Given the description of an element on the screen output the (x, y) to click on. 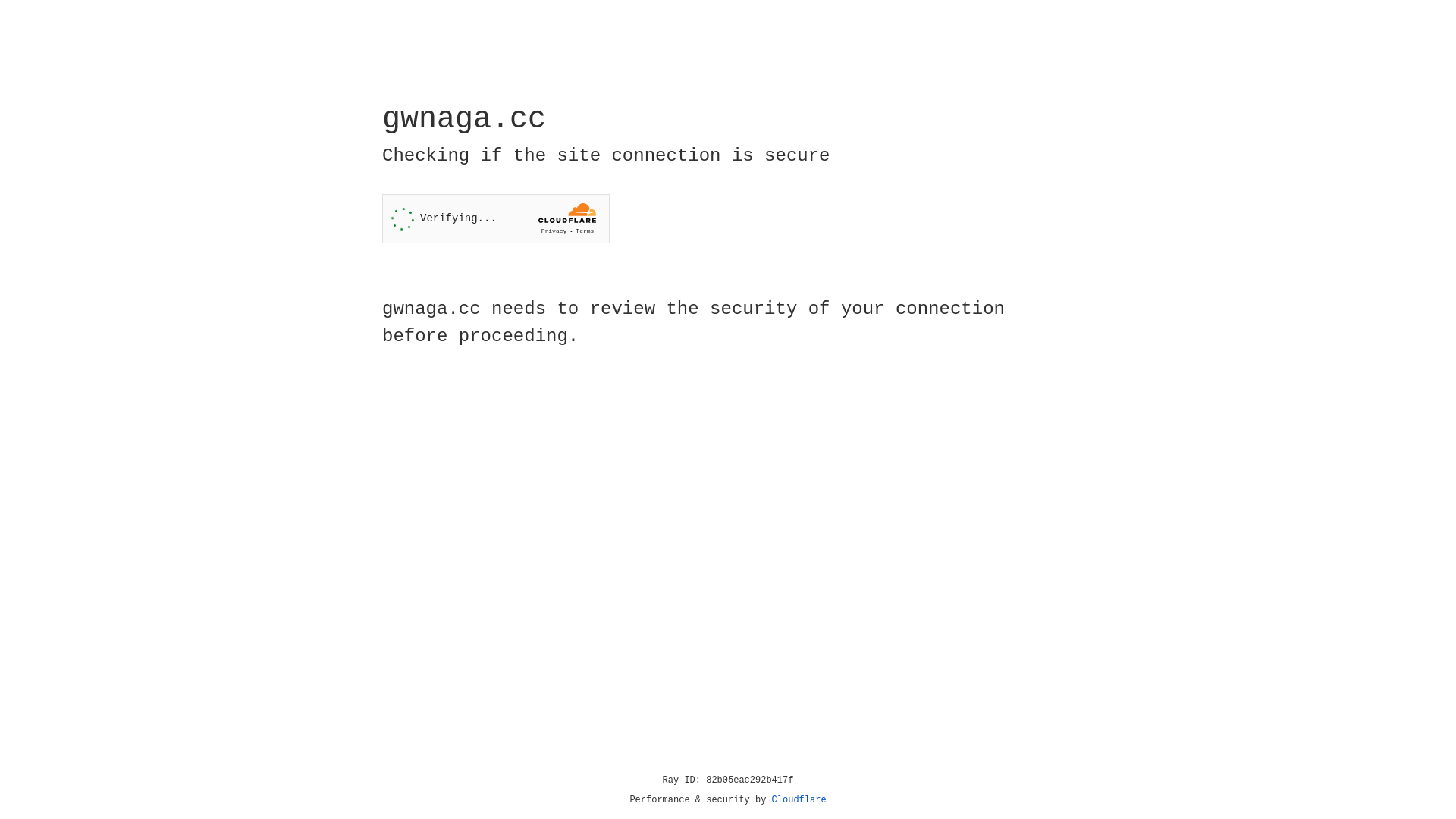
Cloudflare Element type: text (798, 799)
Widget containing a Cloudflare security challenge Element type: hover (495, 218)
